Given the description of an element on the screen output the (x, y) to click on. 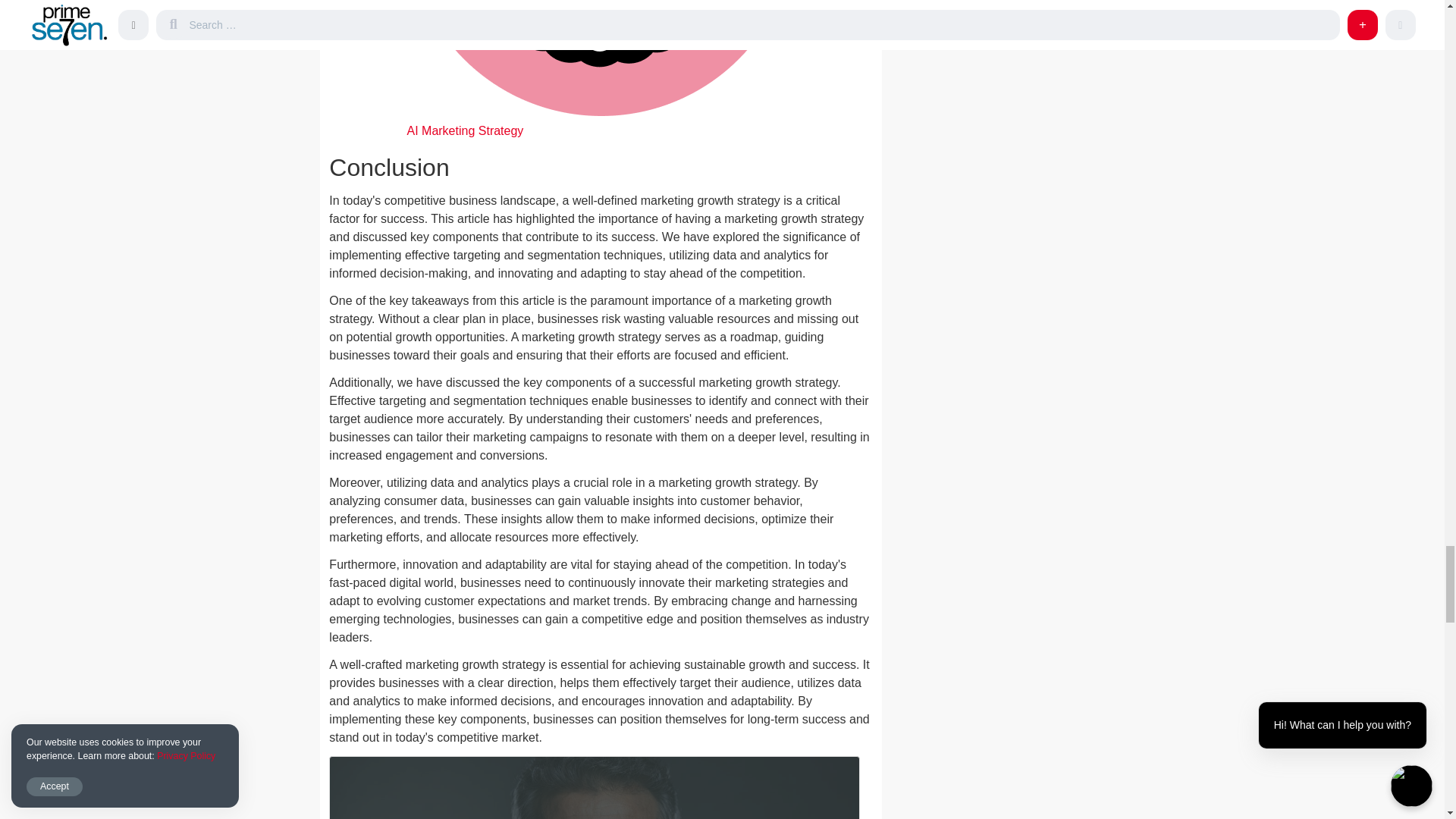
taskade-circle-icon (600, 58)
